Given the description of an element on the screen output the (x, y) to click on. 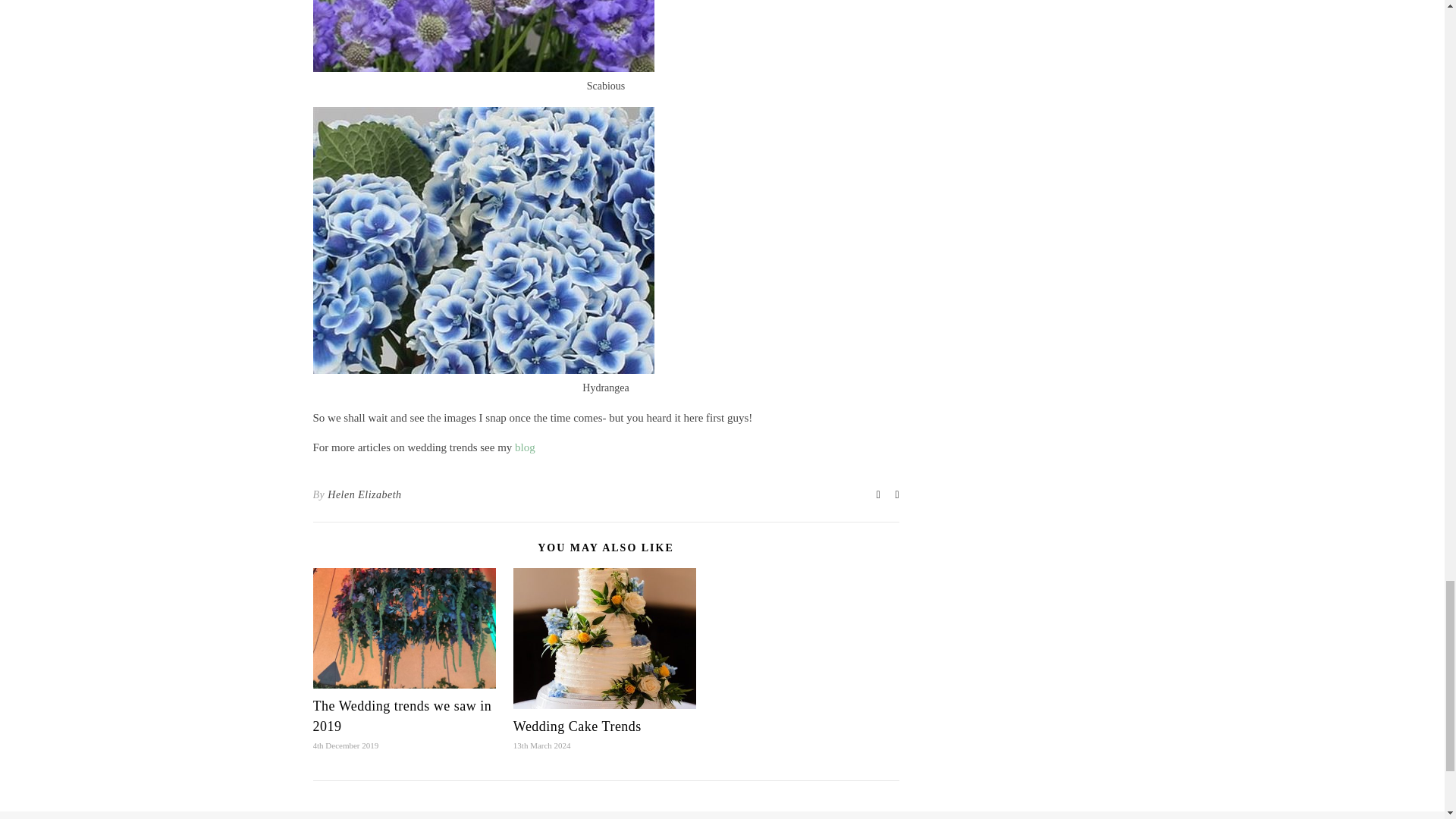
Posts by Helen Elizabeth (364, 495)
